Given the description of an element on the screen output the (x, y) to click on. 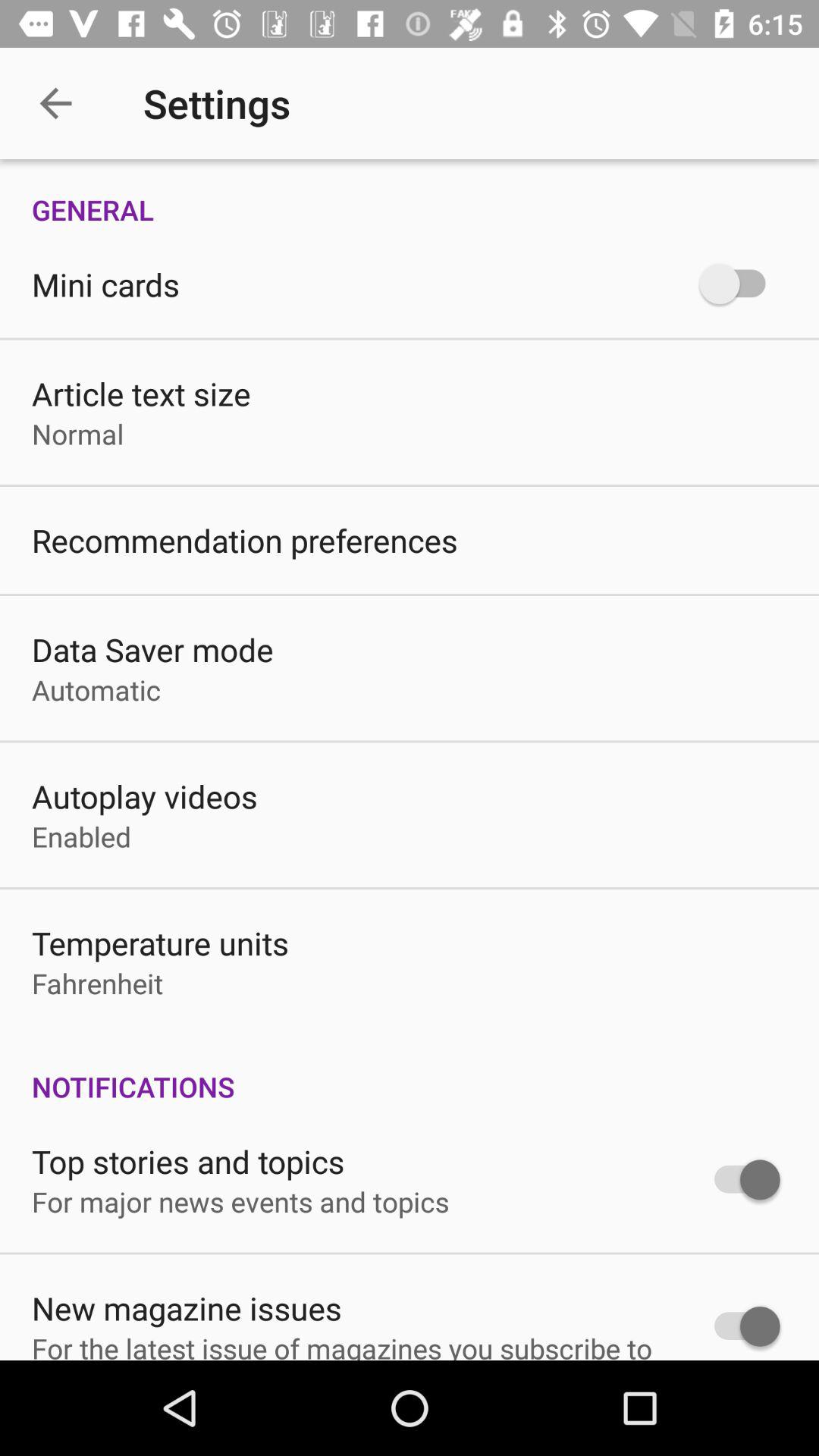
jump until the general icon (409, 193)
